Given the description of an element on the screen output the (x, y) to click on. 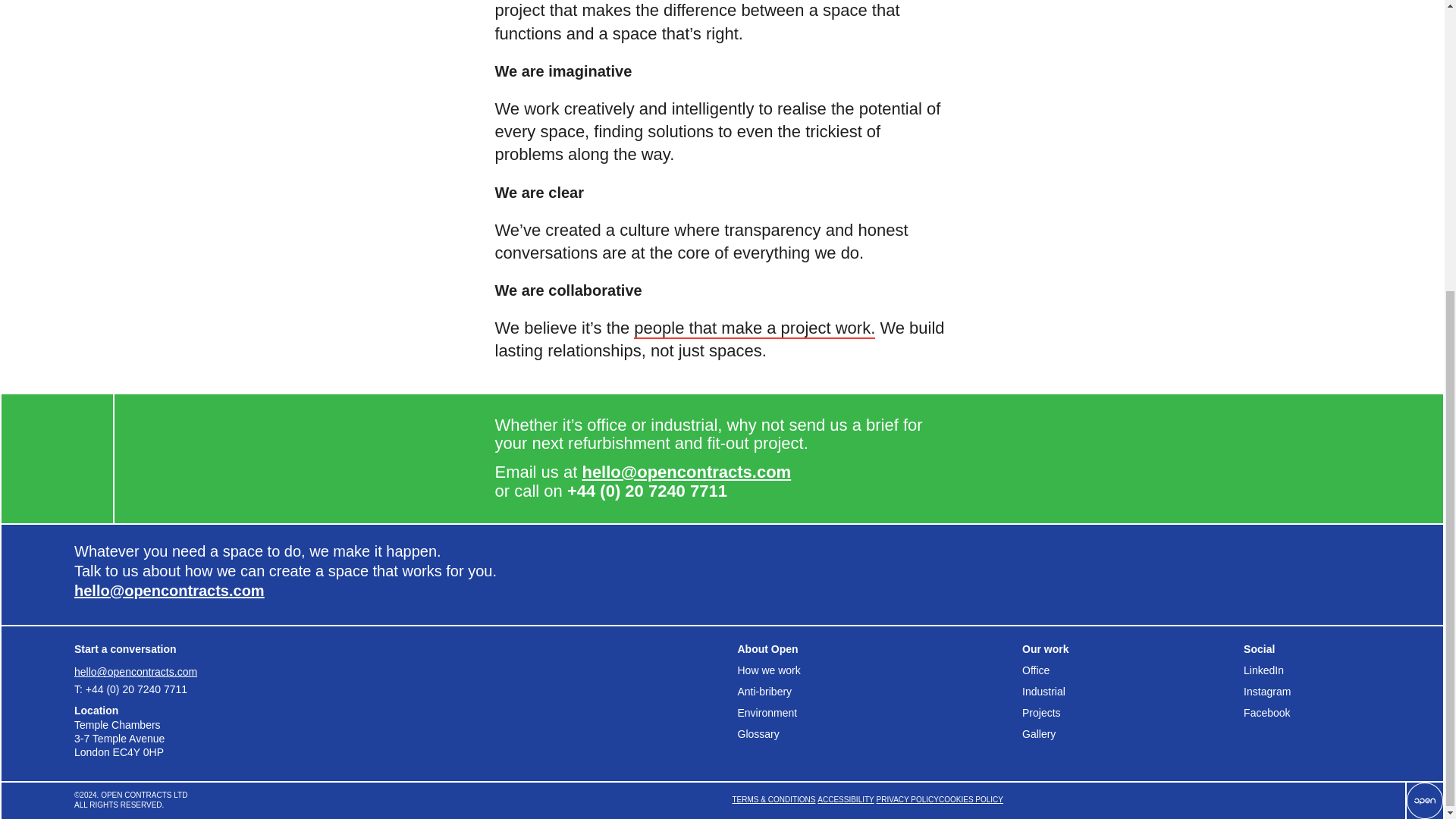
PRIVACY POLICY (907, 799)
How we work (879, 670)
people that make a project work. (754, 328)
COOKIES POLICY (971, 799)
Office (1126, 670)
Instagram (1306, 690)
Gallery (1126, 733)
Industrial (1126, 690)
Anti-bribery (879, 690)
LinkedIn (1306, 670)
Projects (1126, 712)
Glossary (879, 733)
Facebook (1306, 712)
Environment (879, 712)
ACCESSIBILITY (844, 799)
